Given the description of an element on the screen output the (x, y) to click on. 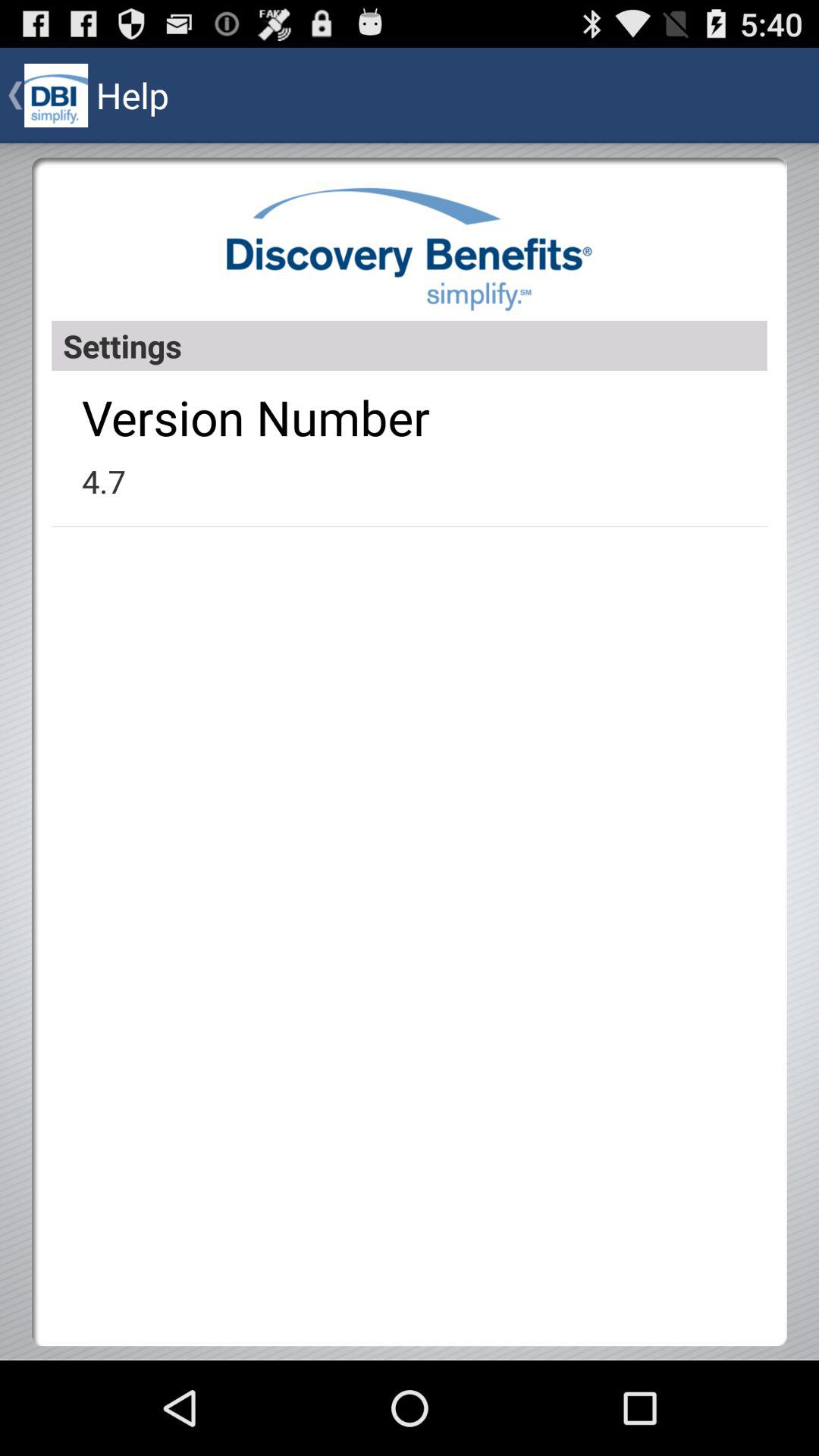
click item above version number app (409, 345)
